Given the description of an element on the screen output the (x, y) to click on. 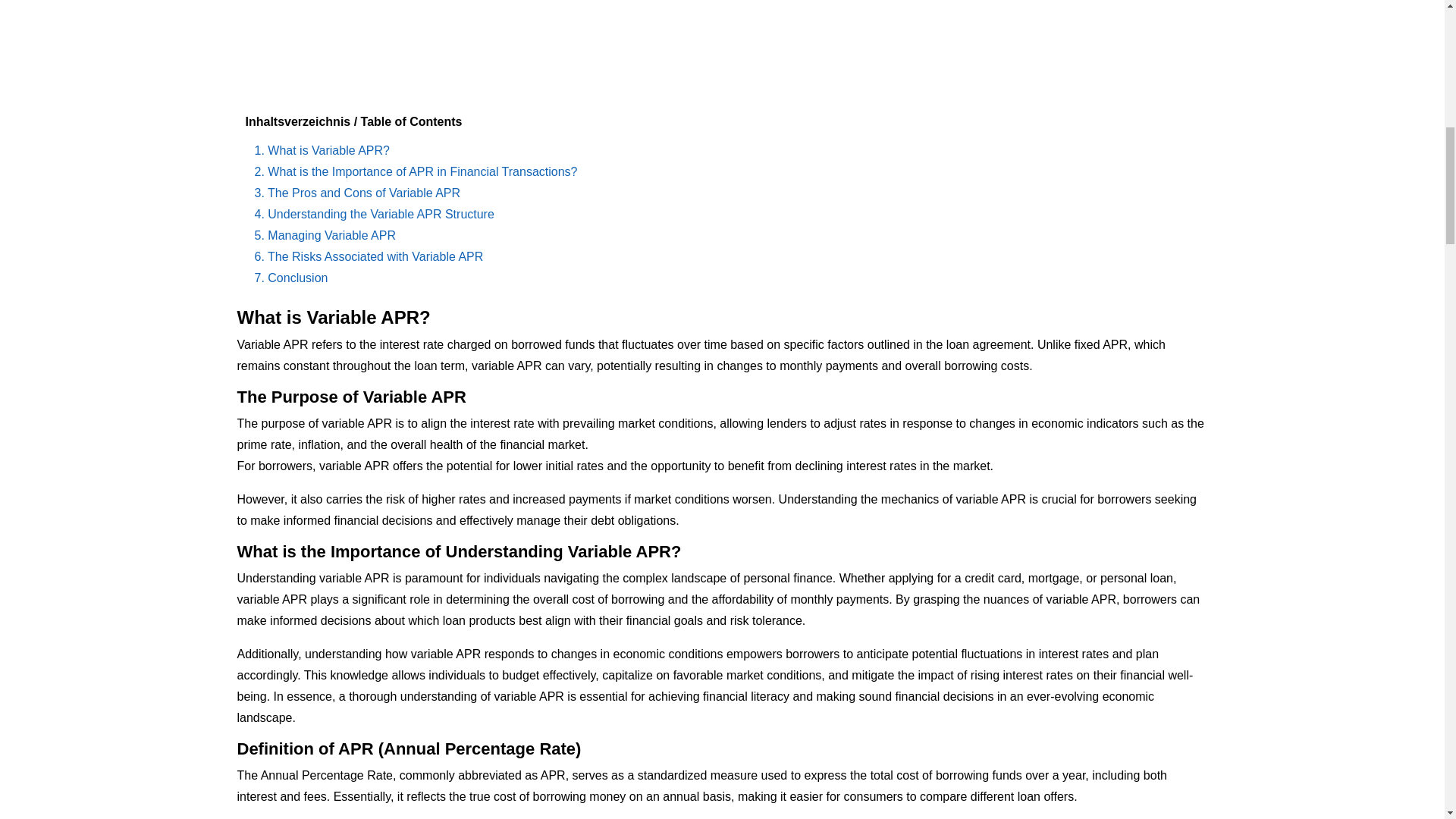
7 Conclusion (291, 277)
5 Managing Variable APR (325, 235)
6 The Risks Associated with Variable APR (368, 256)
1 What is Variable APR? (322, 150)
4 Understanding the Variable APR Structure (374, 214)
3 The Pros and Cons of Variable APR (357, 192)
2 What is the Importance of APR in Financial Transactions? (416, 171)
